Given the description of an element on the screen output the (x, y) to click on. 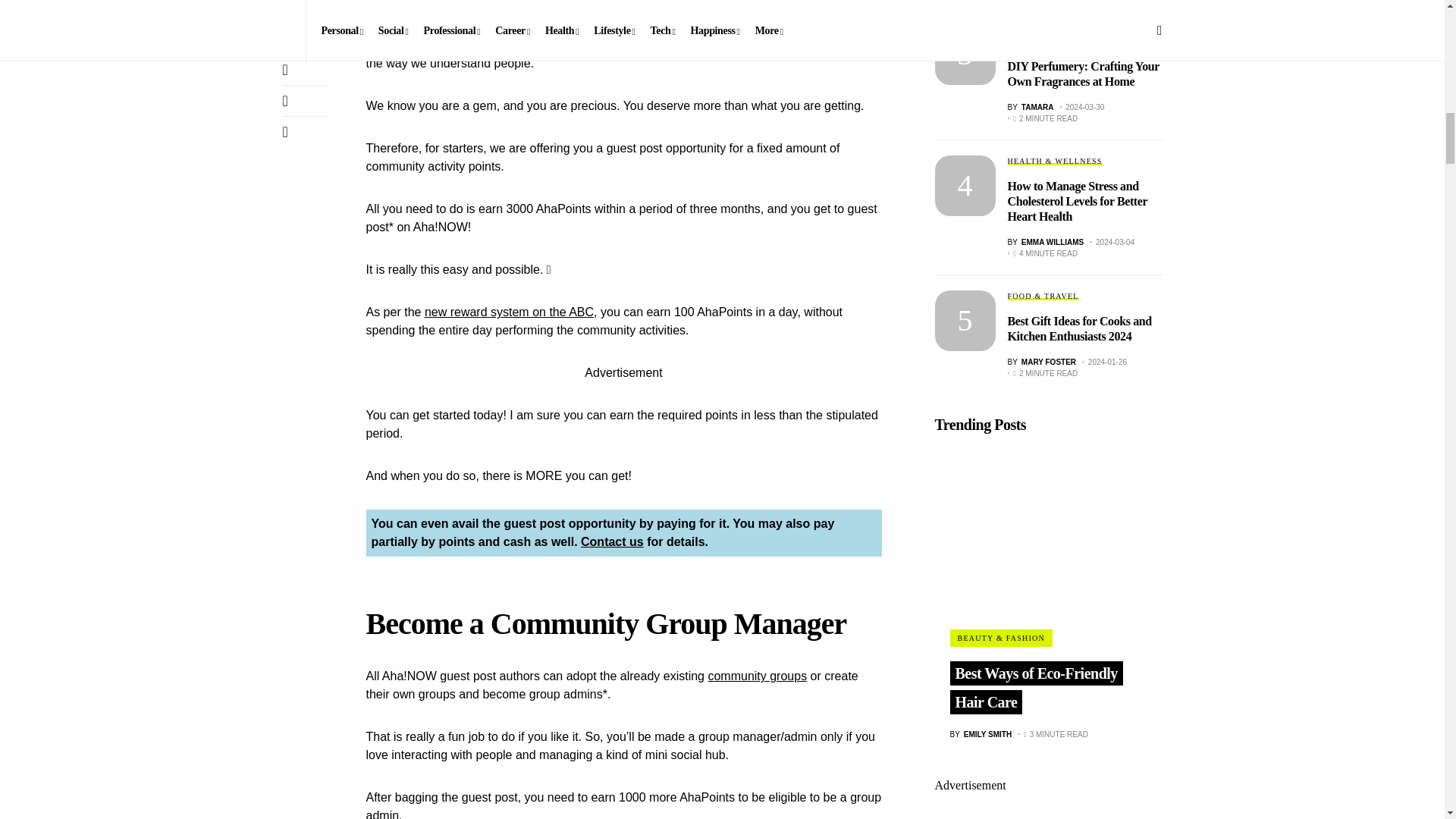
Activity Details for Earning Reward Points (509, 311)
